Given the description of an element on the screen output the (x, y) to click on. 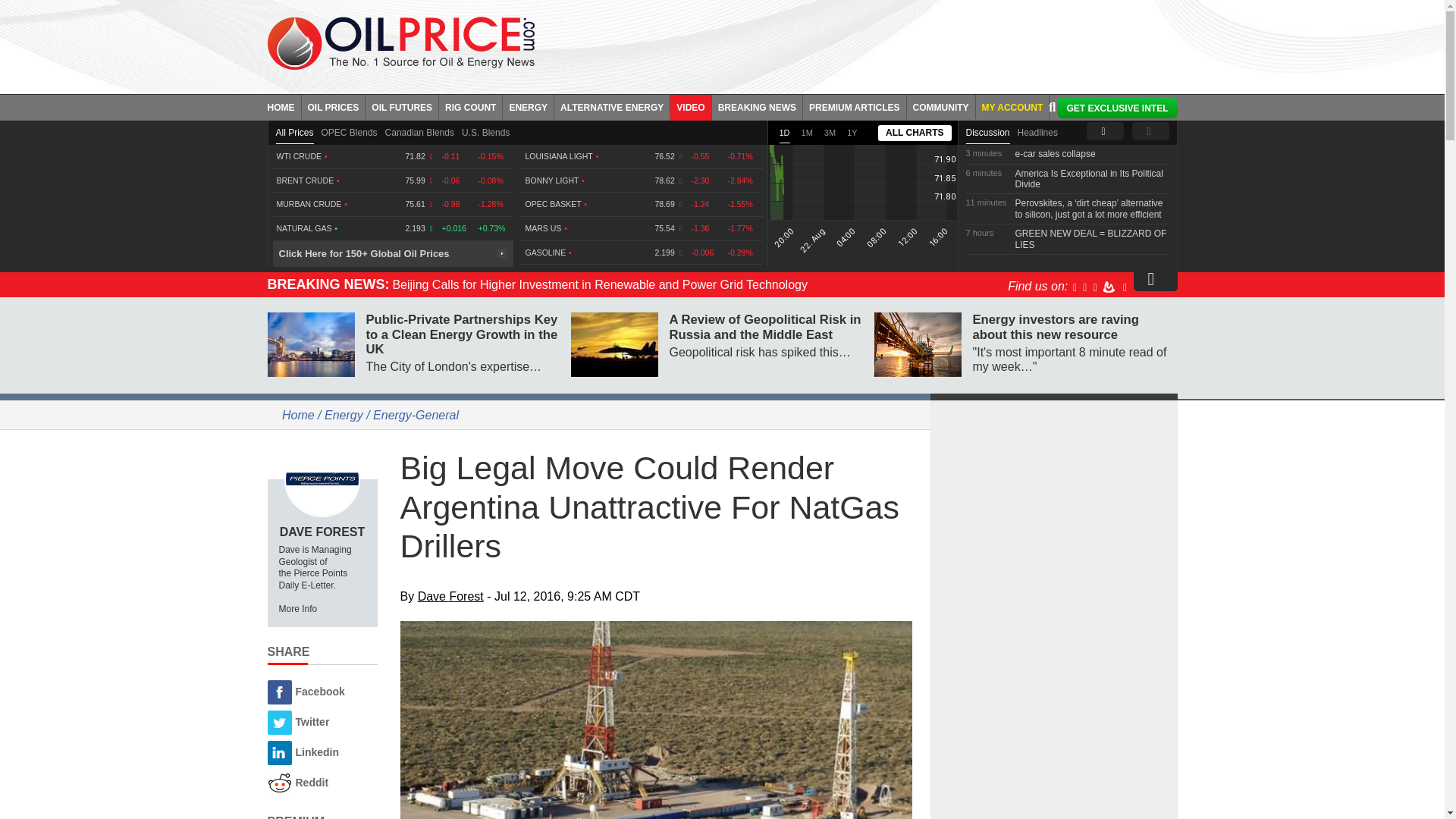
ENERGY (528, 106)
ALTERNATIVE ENERGY (611, 106)
PREMIUM ARTICLES (855, 106)
BREAKING NEWS (757, 106)
MY ACCOUNT (1012, 106)
RIG COUNT (470, 106)
Oil prices - Oilprice.com (400, 42)
Vaca Muerta (656, 719)
HOME (283, 106)
